Given the description of an element on the screen output the (x, y) to click on. 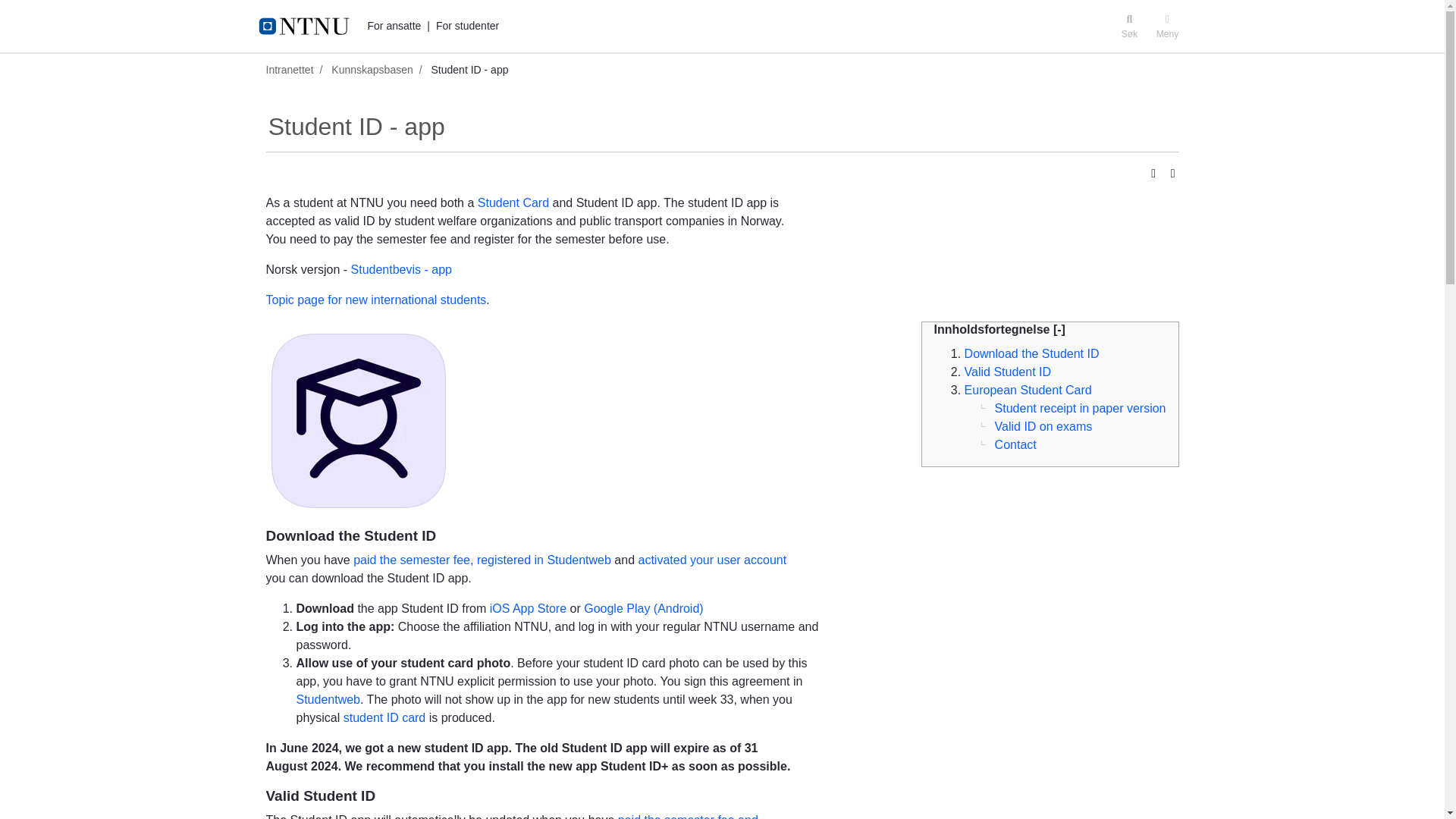
For ansatte (393, 25)
i.ntnu.no (309, 26)
For studenter (467, 25)
Meny (1167, 26)
